Given the description of an element on the screen output the (x, y) to click on. 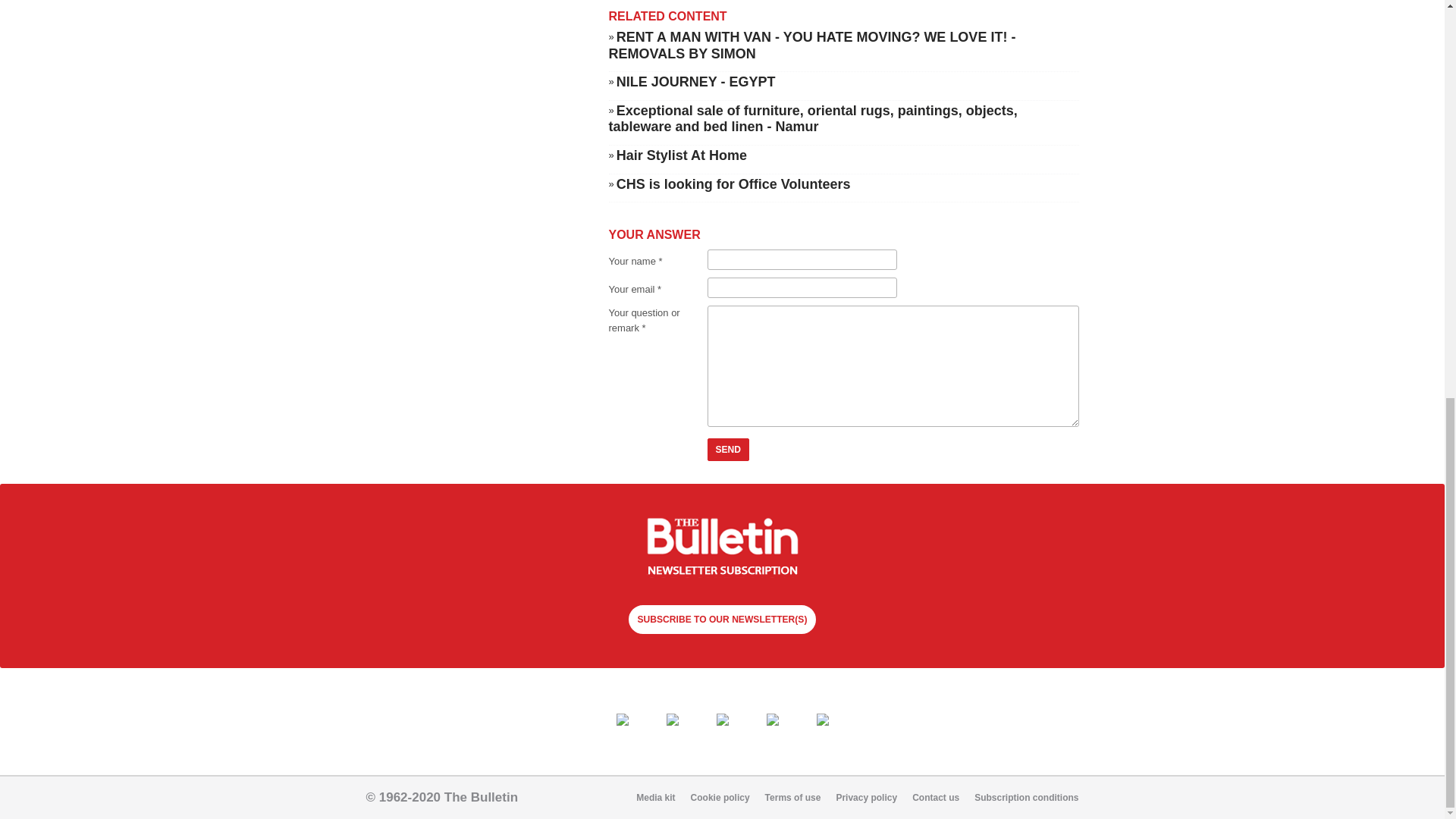
www.sydexa.com (649, 7)
Subscribe now (721, 635)
NILE JOURNEY - EGYPT (695, 168)
Close (238, 61)
Send (727, 536)
Hair Stylist At Home (680, 242)
CHS is looking for Office Volunteers (732, 271)
Send (727, 536)
